Given the description of an element on the screen output the (x, y) to click on. 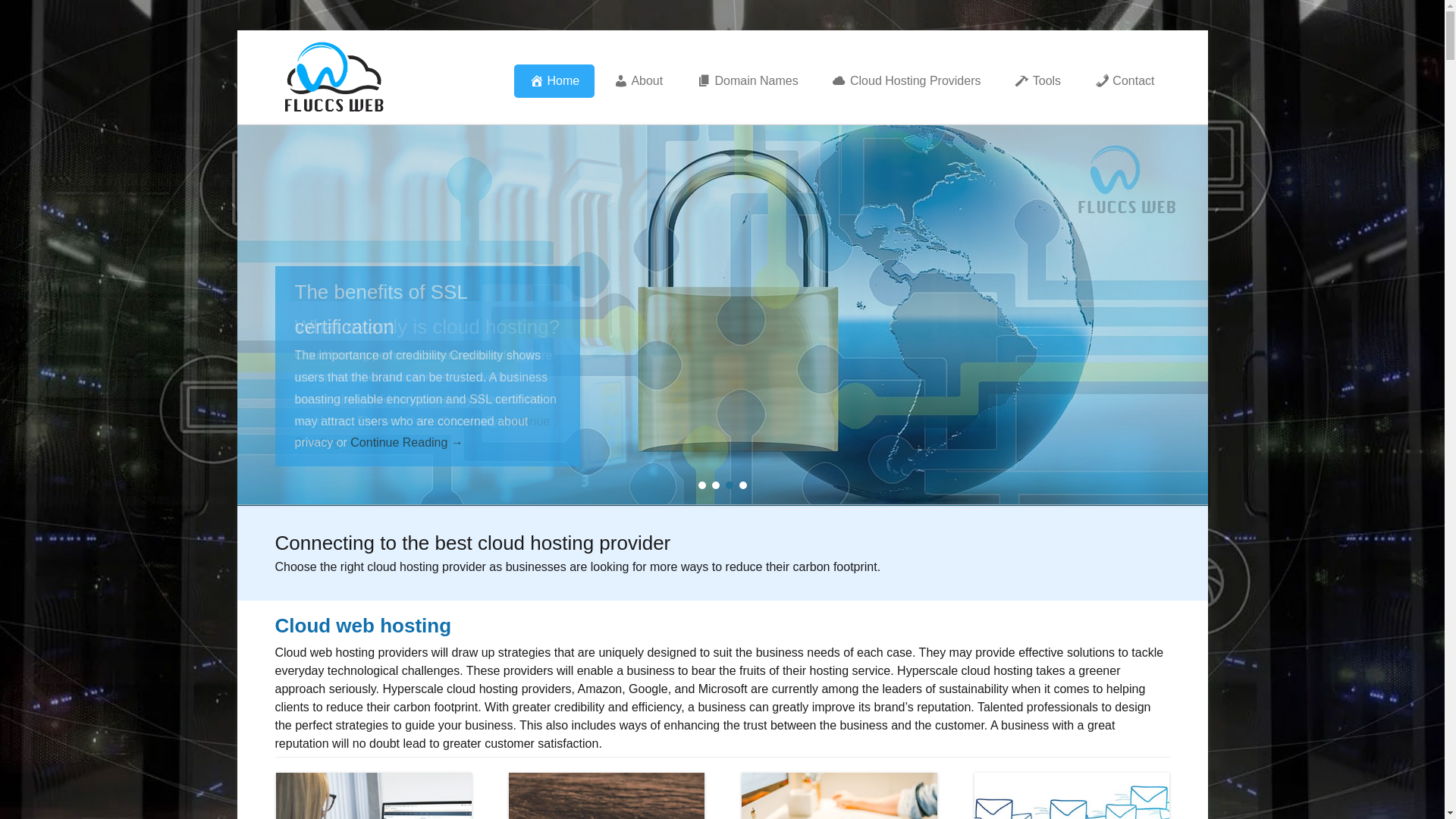
Domain Names Element type: text (747, 80)
What exactly is cloud hosting? Element type: text (426, 327)
1 Element type: text (701, 485)
Home Element type: text (554, 80)
3 Element type: text (728, 485)
Contact Element type: text (1124, 80)
4 Element type: text (742, 485)
Tools Element type: text (1037, 80)
Cloud Hosting Providers Element type: text (905, 80)
2 Element type: text (714, 485)
Fluccs WebFluccs Web Element type: text (551, 59)
Search Element type: text (32, 15)
What exactly is cloud hosting? Element type: hover (721, 314)
About Element type: text (638, 80)
